Given the description of an element on the screen output the (x, y) to click on. 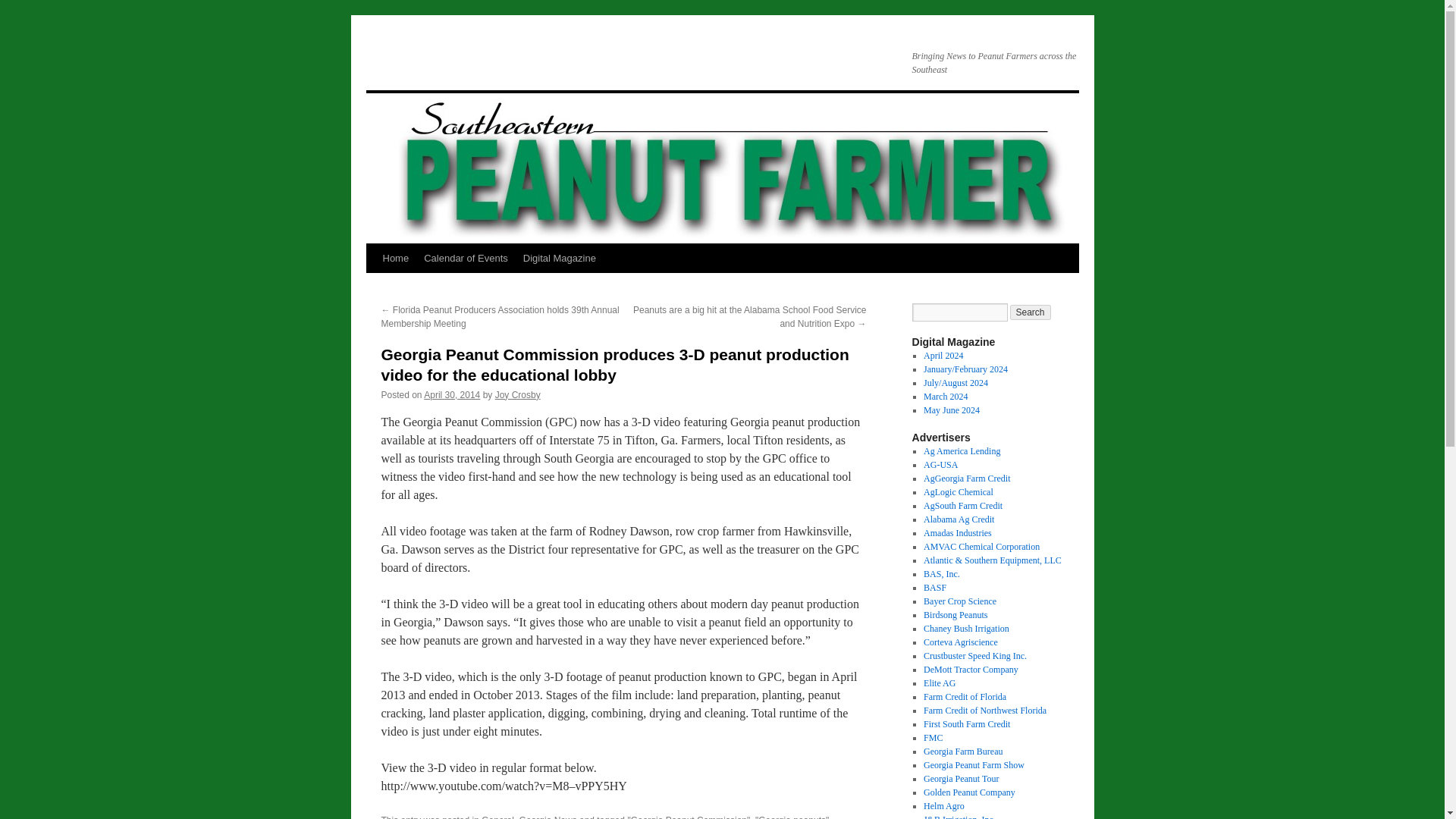
"Georgia Peanut Commission" (688, 816)
Search (1030, 312)
Digital Magazine (559, 258)
AgLogic Chemical (957, 491)
AgSouth Farm Credit (963, 505)
April 2024 (942, 355)
Corteva Agriscience (960, 642)
AMVAC Chemical Corporation (981, 546)
Chaney Bush Irrigation (966, 628)
Georgia News (547, 816)
